Given the description of an element on the screen output the (x, y) to click on. 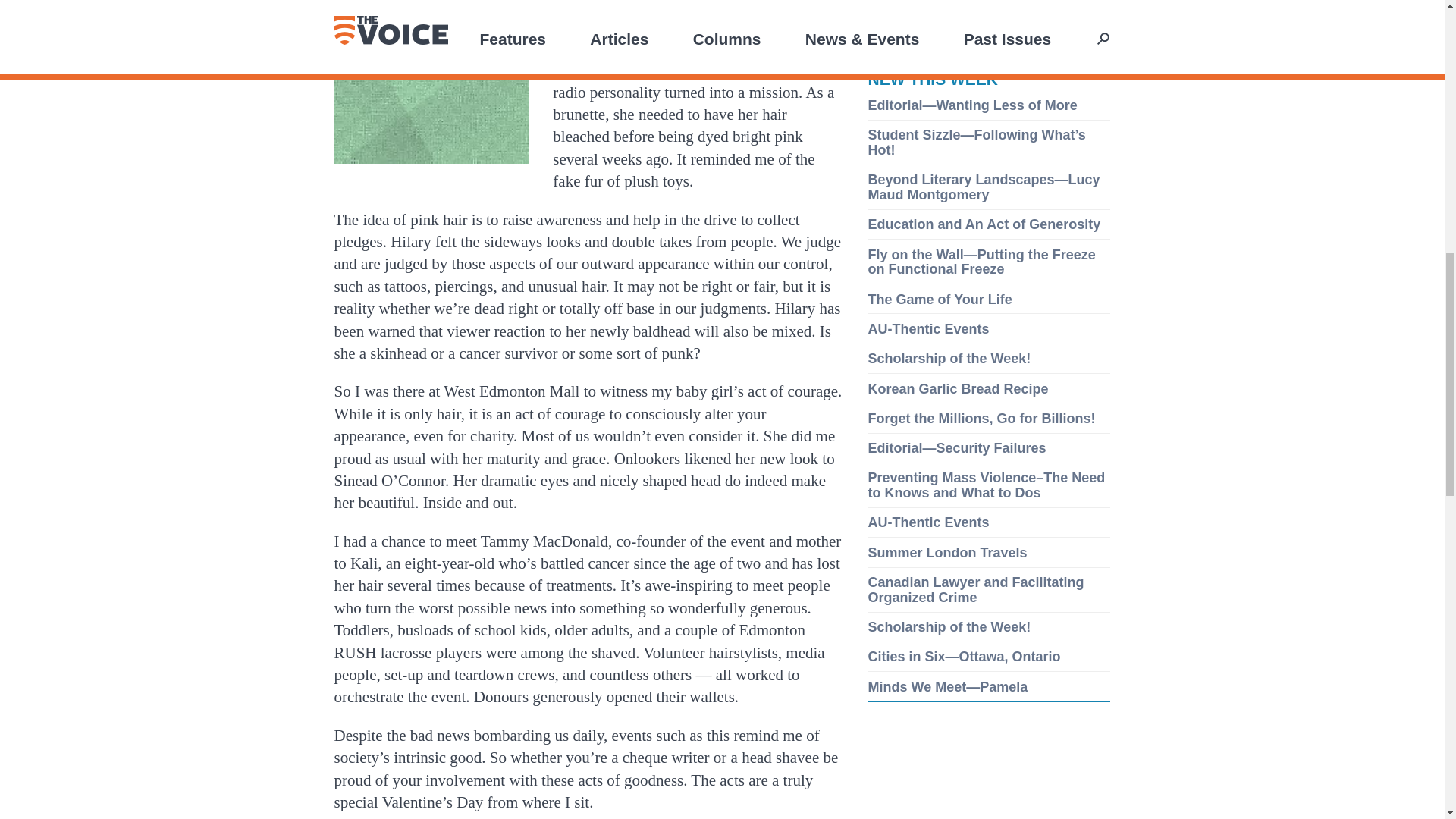
Education and An Act of Generosity (983, 224)
